Given the description of an element on the screen output the (x, y) to click on. 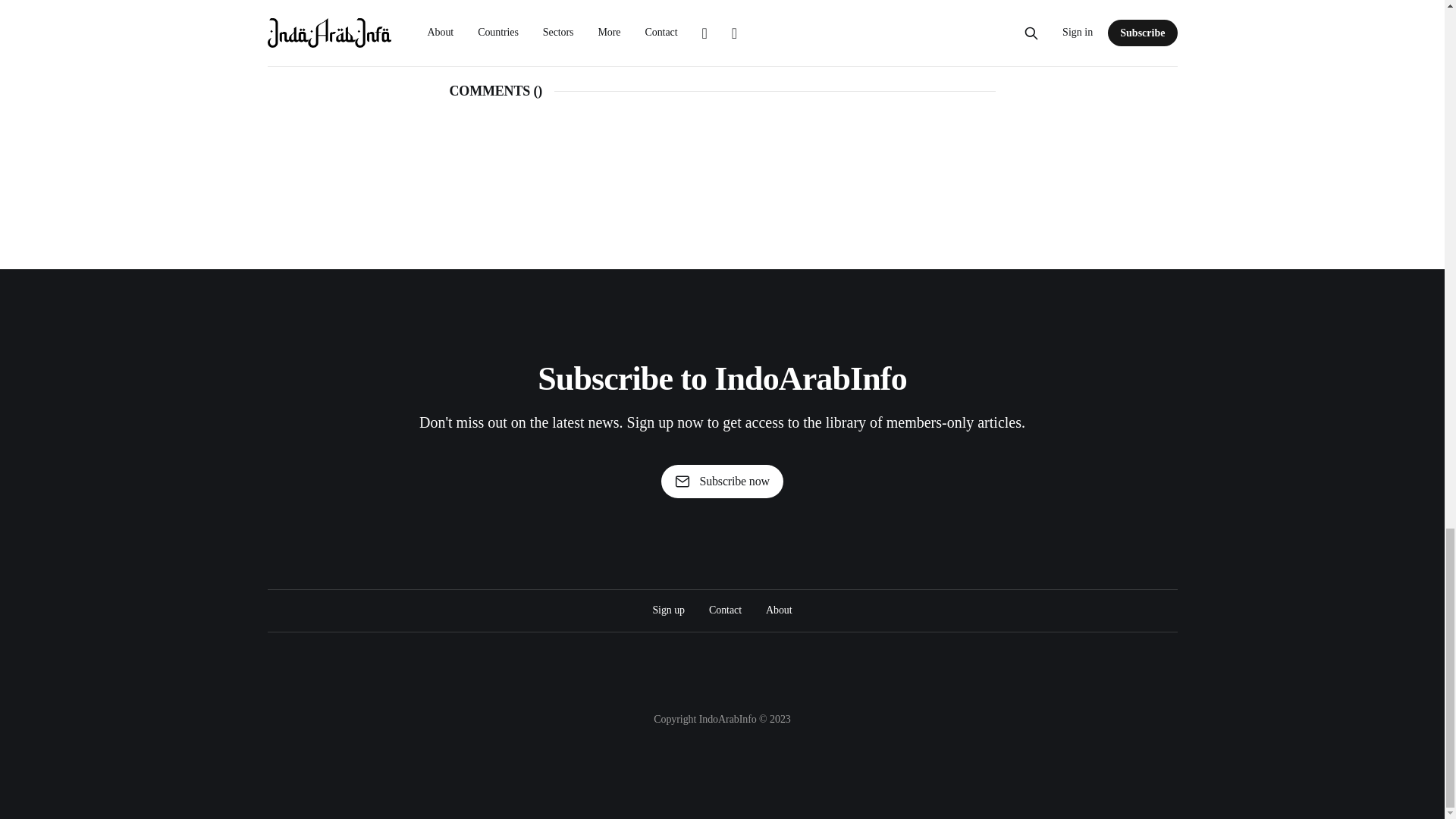
Contact (725, 610)
Sign up (668, 610)
About (778, 610)
Subscribe now (722, 481)
